Given the description of an element on the screen output the (x, y) to click on. 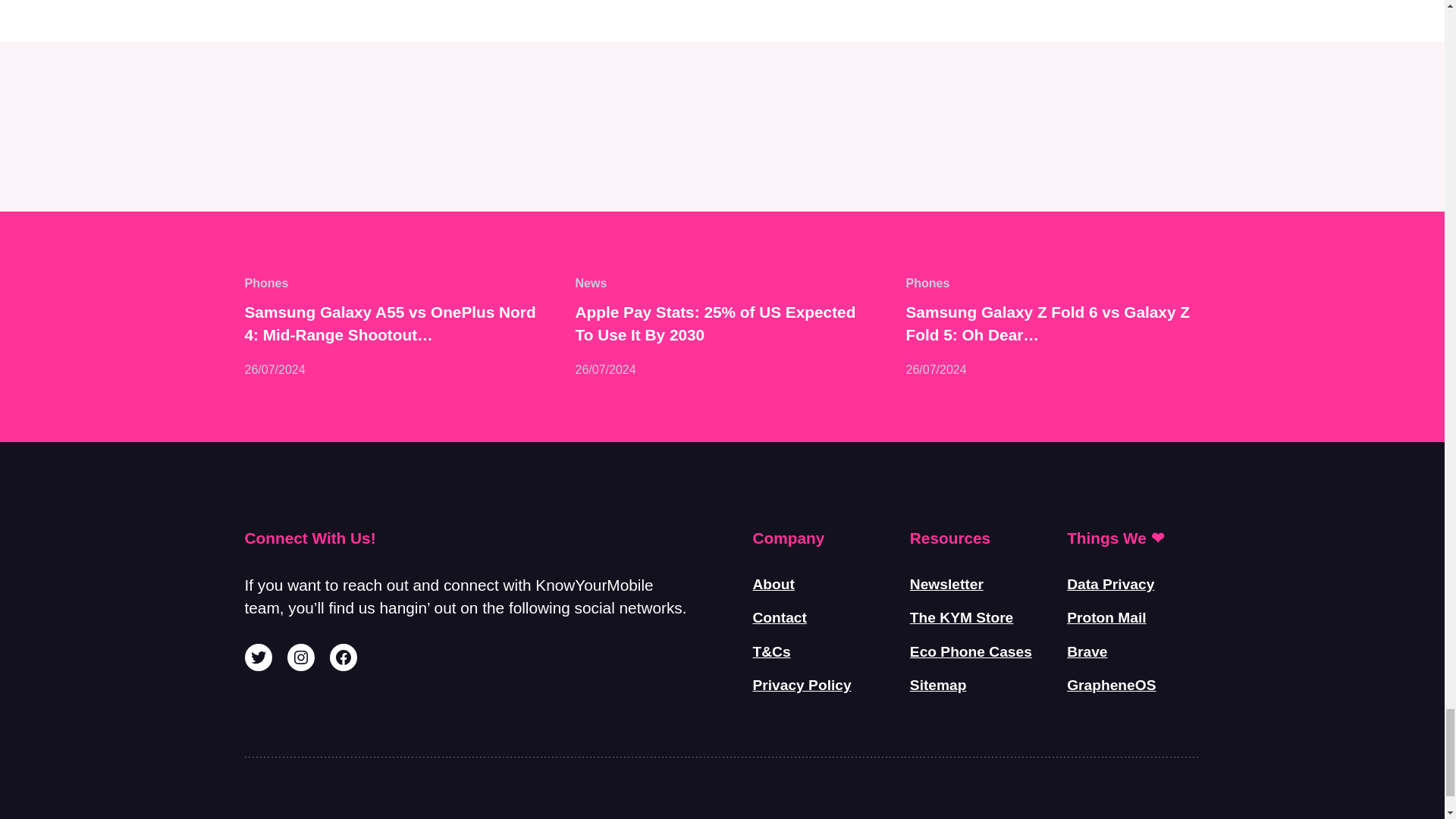
Phones (266, 282)
